Given the description of an element on the screen output the (x, y) to click on. 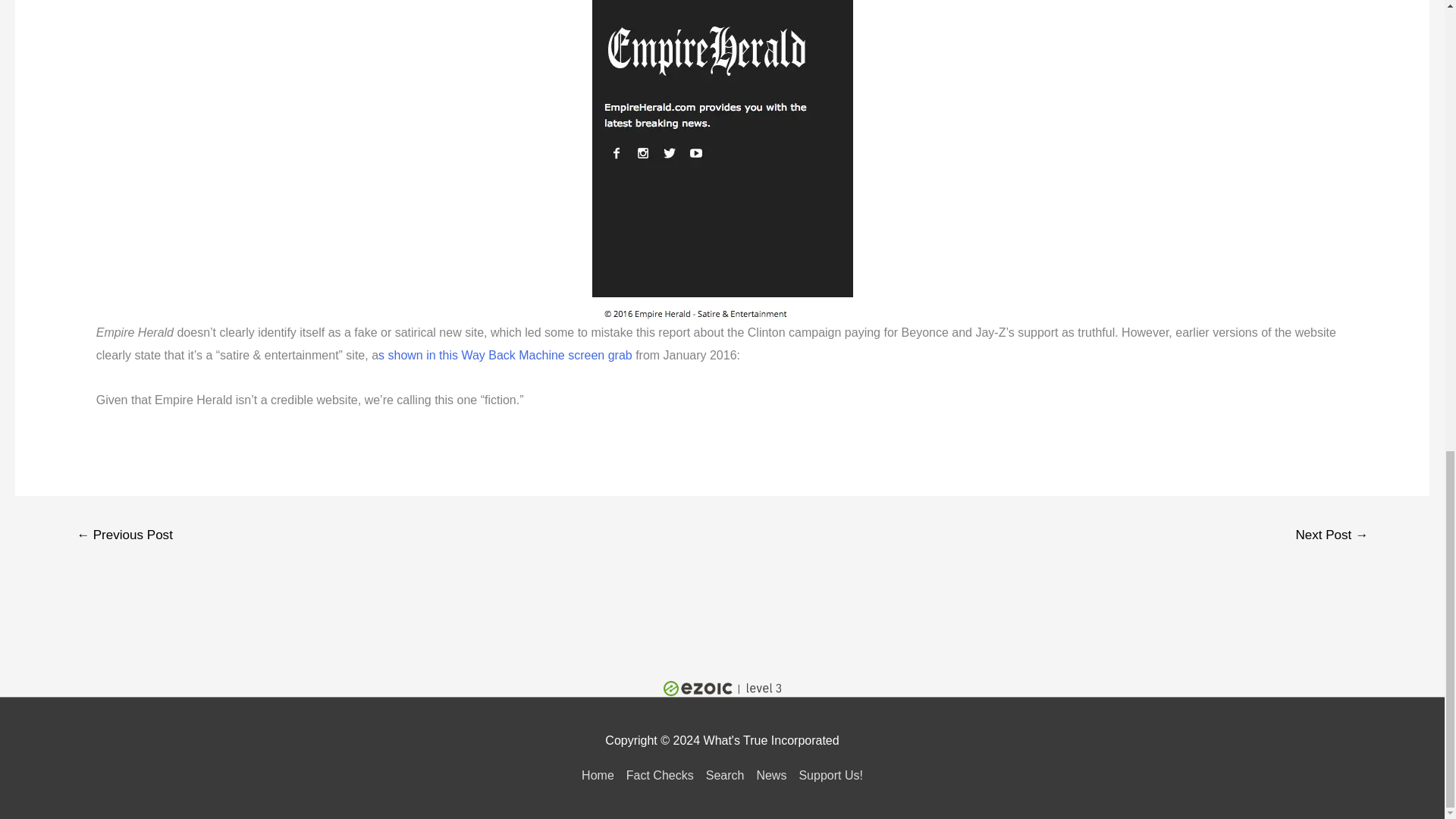
s shown in this Way Back Machine screen grab (504, 354)
